Given the description of an element on the screen output the (x, y) to click on. 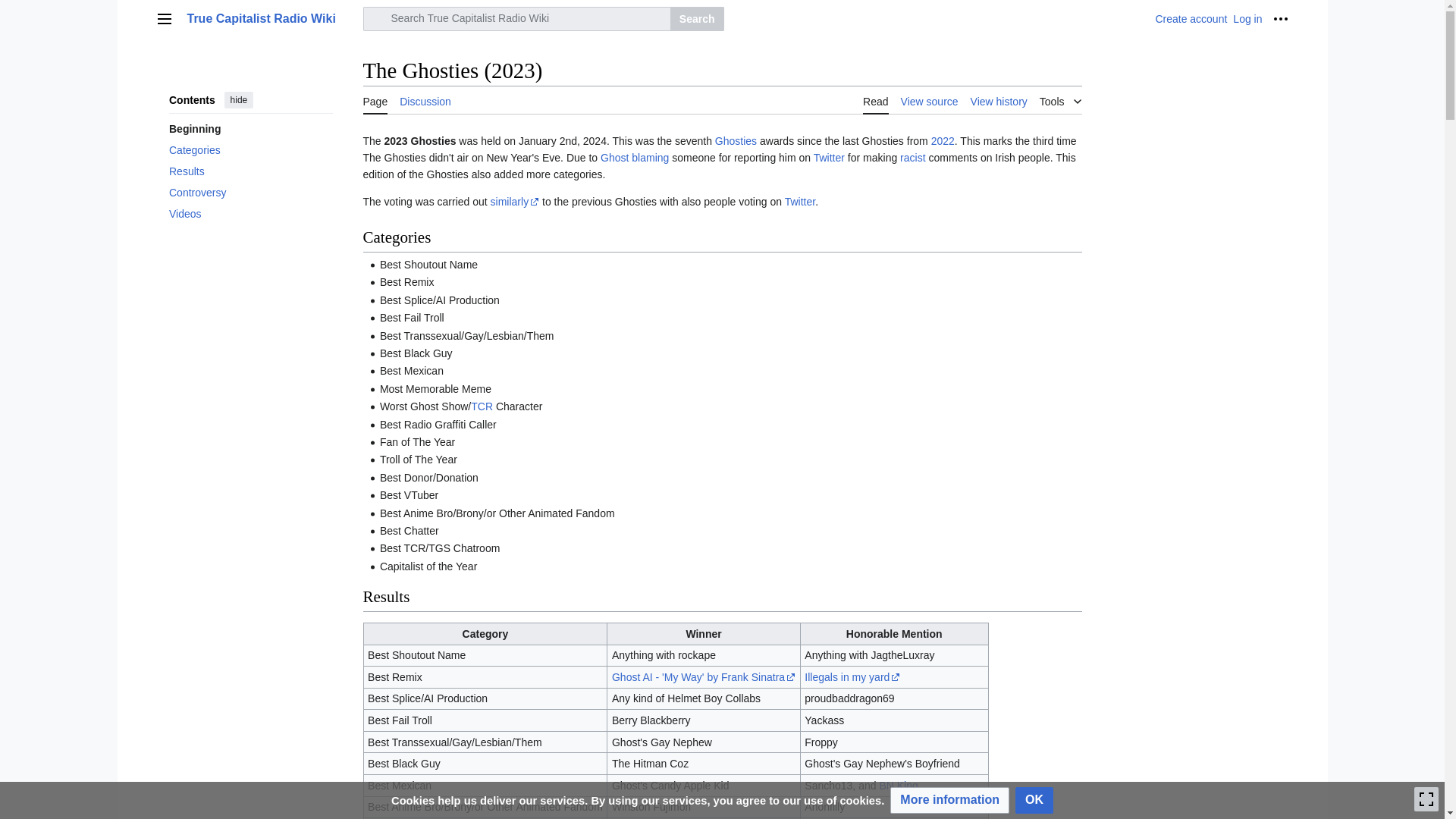
Create account (1190, 19)
View source (929, 100)
Discussion (424, 100)
Log in (1247, 19)
Controversy (249, 192)
More options (1280, 18)
Search (696, 18)
View history (999, 100)
hide (238, 99)
Page (374, 100)
True Capitalist Radio Wiki (270, 18)
Results (249, 170)
Read (875, 100)
Videos (249, 213)
